Given the description of an element on the screen output the (x, y) to click on. 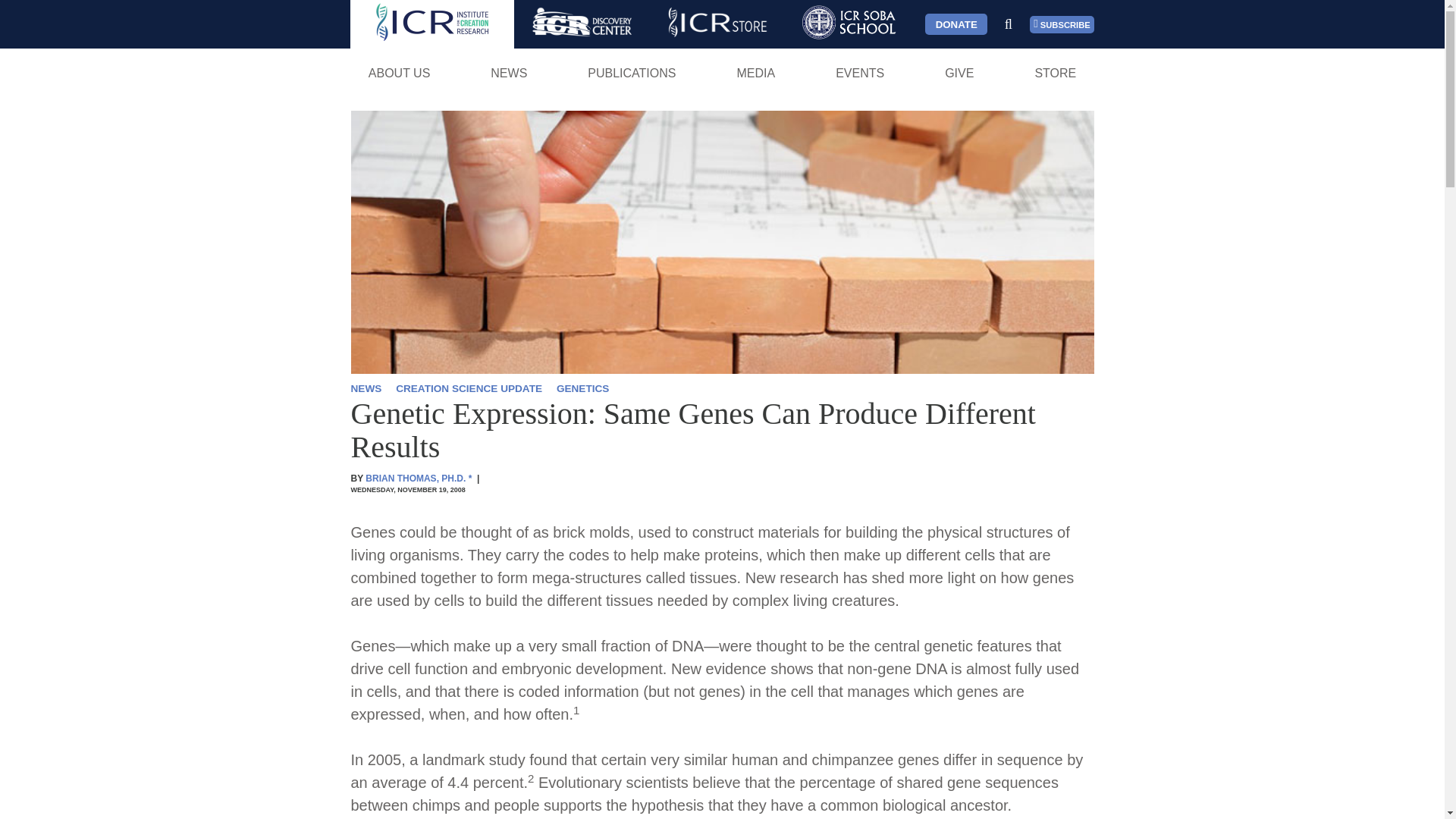
ABOUT US (399, 73)
PUBLICATIONS (631, 73)
NEWS (508, 73)
SUBSCRIBE (1061, 24)
DONATE (955, 24)
